Given the description of an element on the screen output the (x, y) to click on. 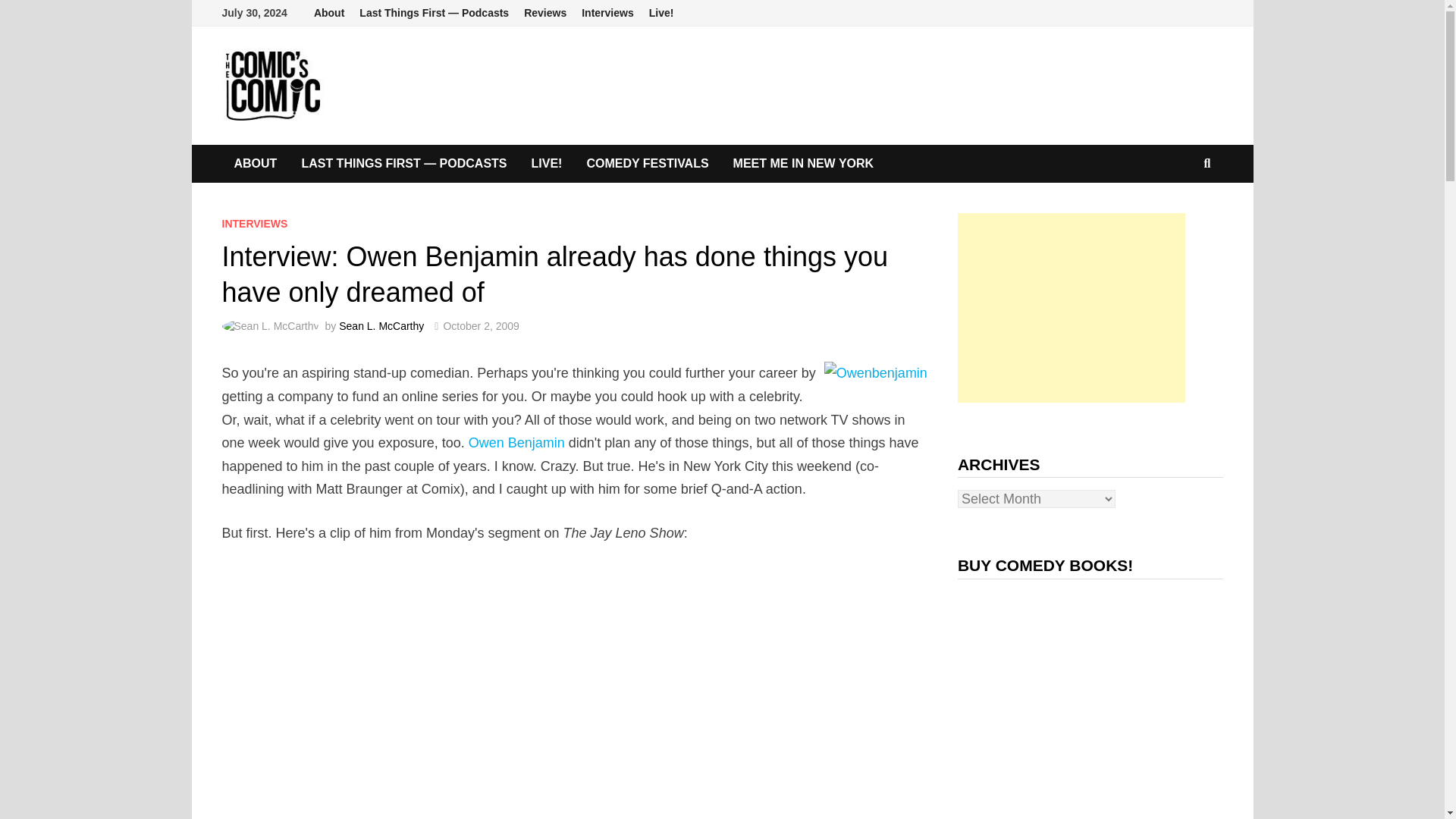
ABOUT (254, 163)
Interviews (606, 13)
Live! (661, 13)
Sean L. McCarthy (381, 326)
INTERVIEWS (253, 223)
MEET ME IN NEW YORK (803, 163)
LIVE! (547, 163)
About (328, 13)
Owen Benjamin (516, 442)
COMEDY FESTIVALS (646, 163)
Reviews (544, 13)
October 2, 2009 (480, 326)
